Given the description of an element on the screen output the (x, y) to click on. 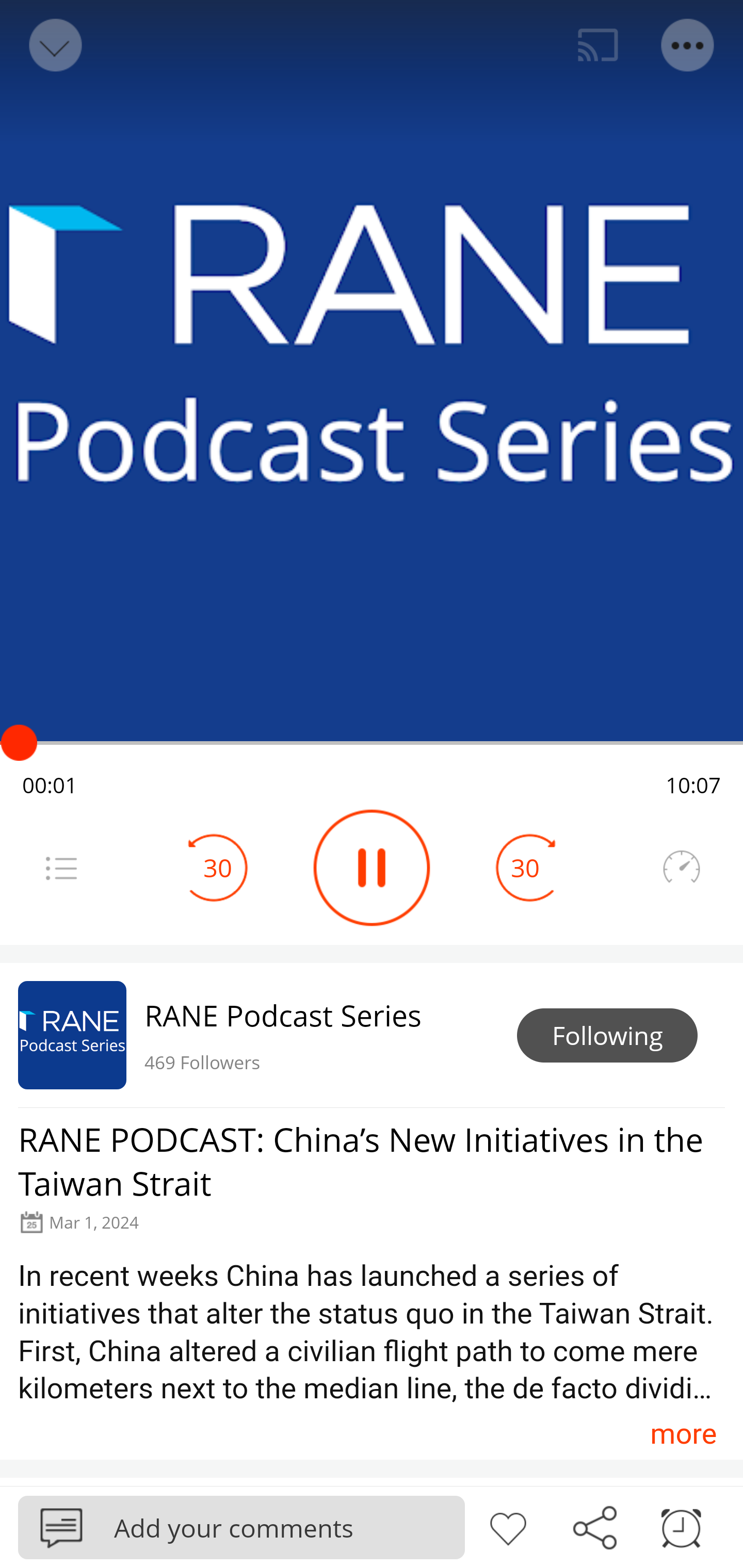
Back (53, 45)
Cast. Disconnected (597, 45)
Menu (688, 45)
Play (371, 867)
30 Seek Backward (217, 867)
30 Seek Forward (525, 867)
Menu (60, 867)
Speedometer (681, 867)
RANE Podcast Series 469 Followers Following (371, 1034)
Following (607, 1035)
more (682, 1432)
Like (508, 1526)
Share (594, 1526)
Sleep timer (681, 1526)
Podbean Add your comments (241, 1526)
